Given the description of an element on the screen output the (x, y) to click on. 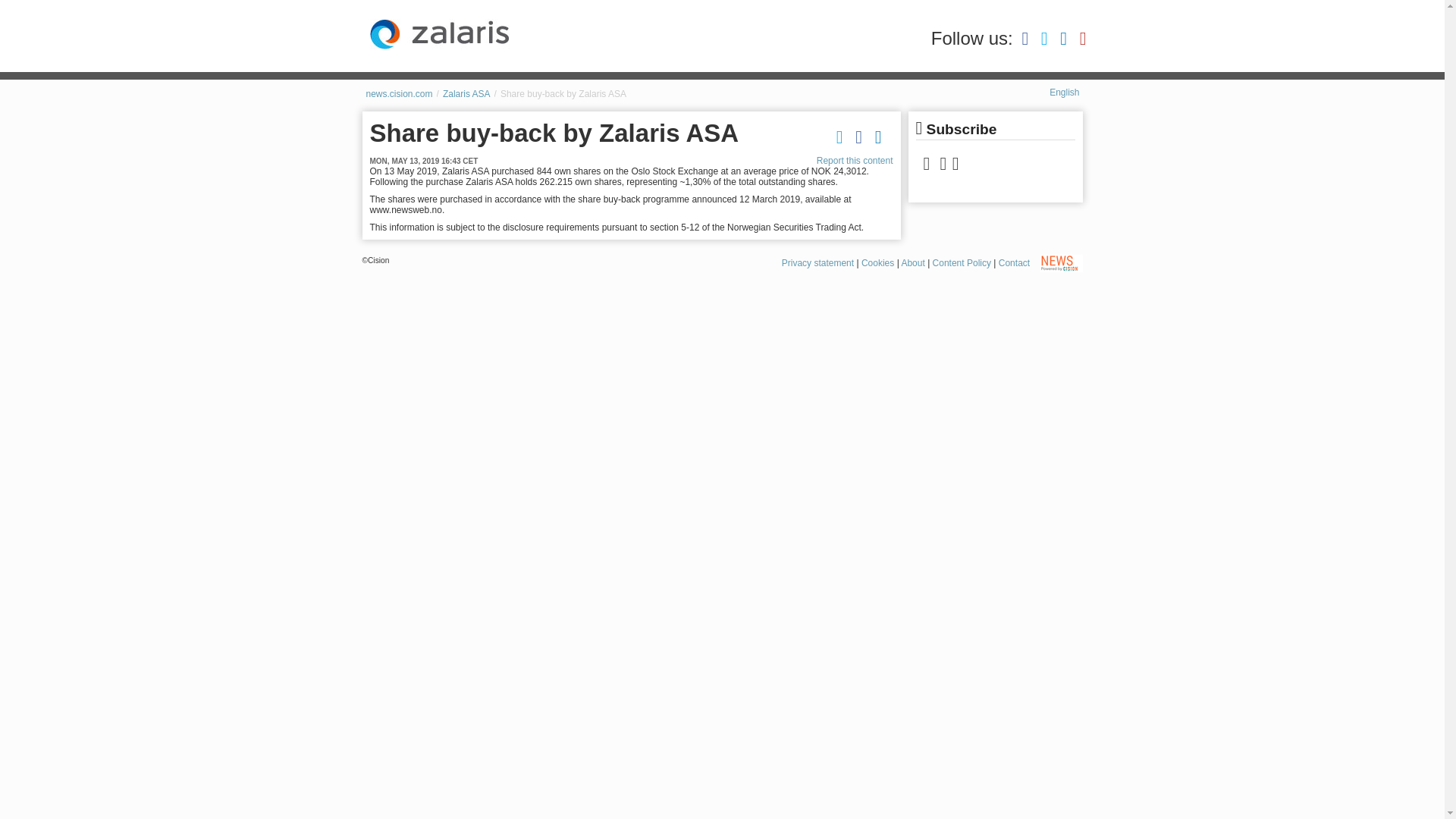
Zalaris ASA (441, 33)
news.cision.com (398, 93)
Content Policy (962, 262)
Zalaris ASA (466, 93)
Report this content (854, 160)
Zalaris ASA (466, 93)
news.cision.com (398, 93)
English (1063, 91)
Cookies (877, 262)
Privacy statement (817, 262)
